Given the description of an element on the screen output the (x, y) to click on. 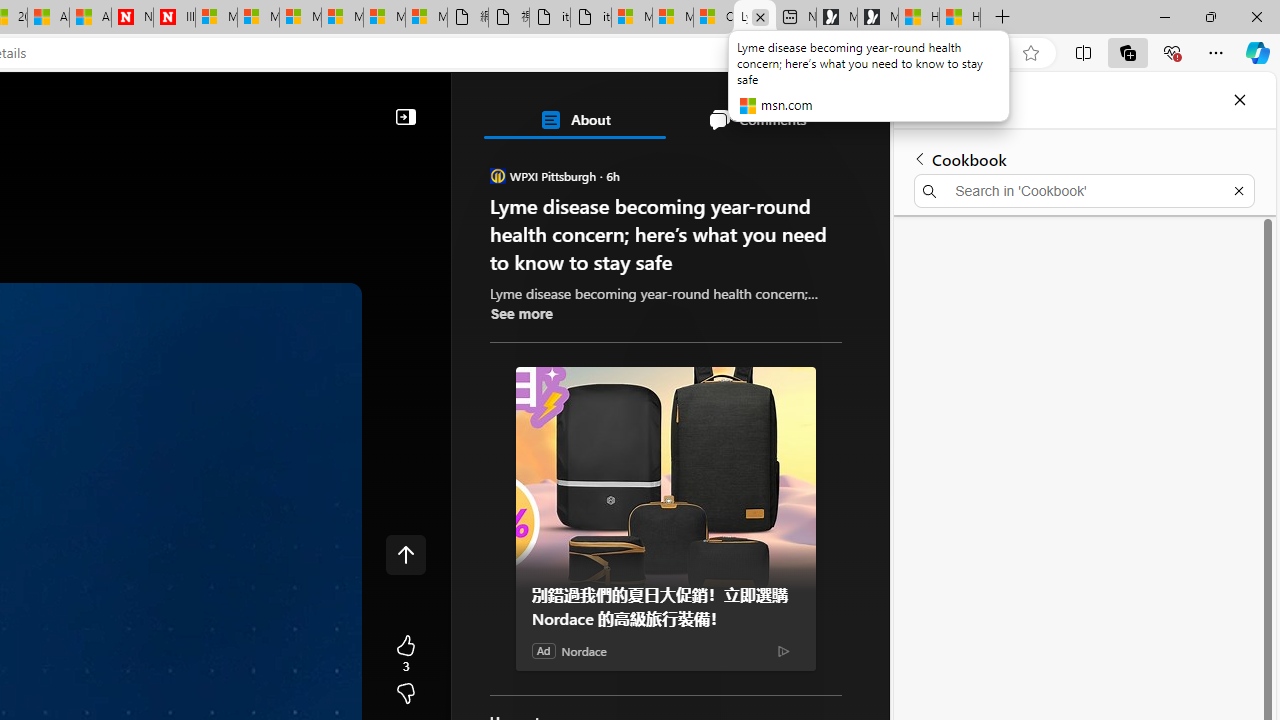
Newsweek - News, Analysis, Politics, Business, Technology (132, 17)
Ad Choice (784, 650)
Read aloud this page (Ctrl+Shift+U) (950, 53)
